Given the description of an element on the screen output the (x, y) to click on. 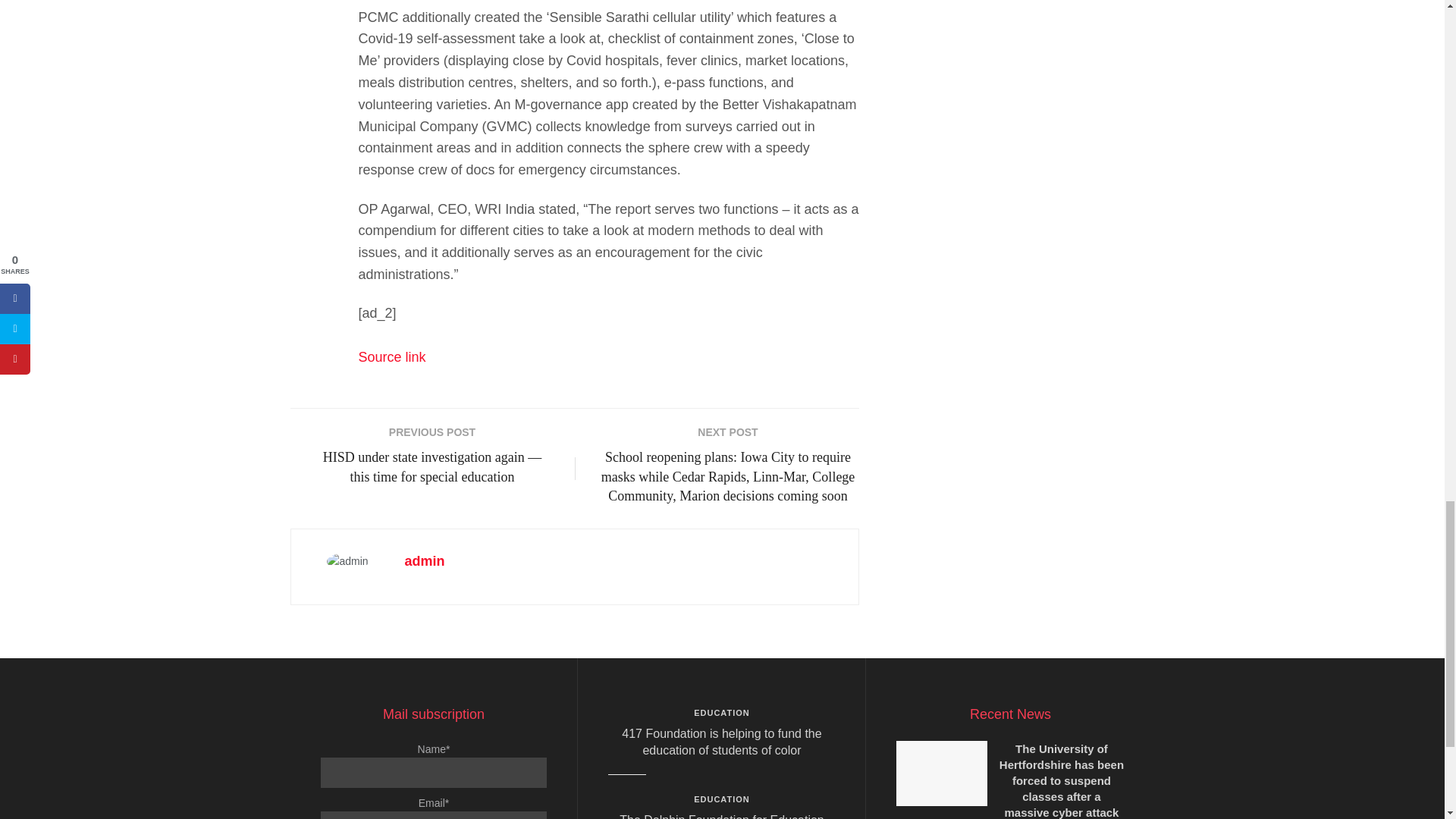
Source link (391, 356)
admin (424, 560)
